Given the description of an element on the screen output the (x, y) to click on. 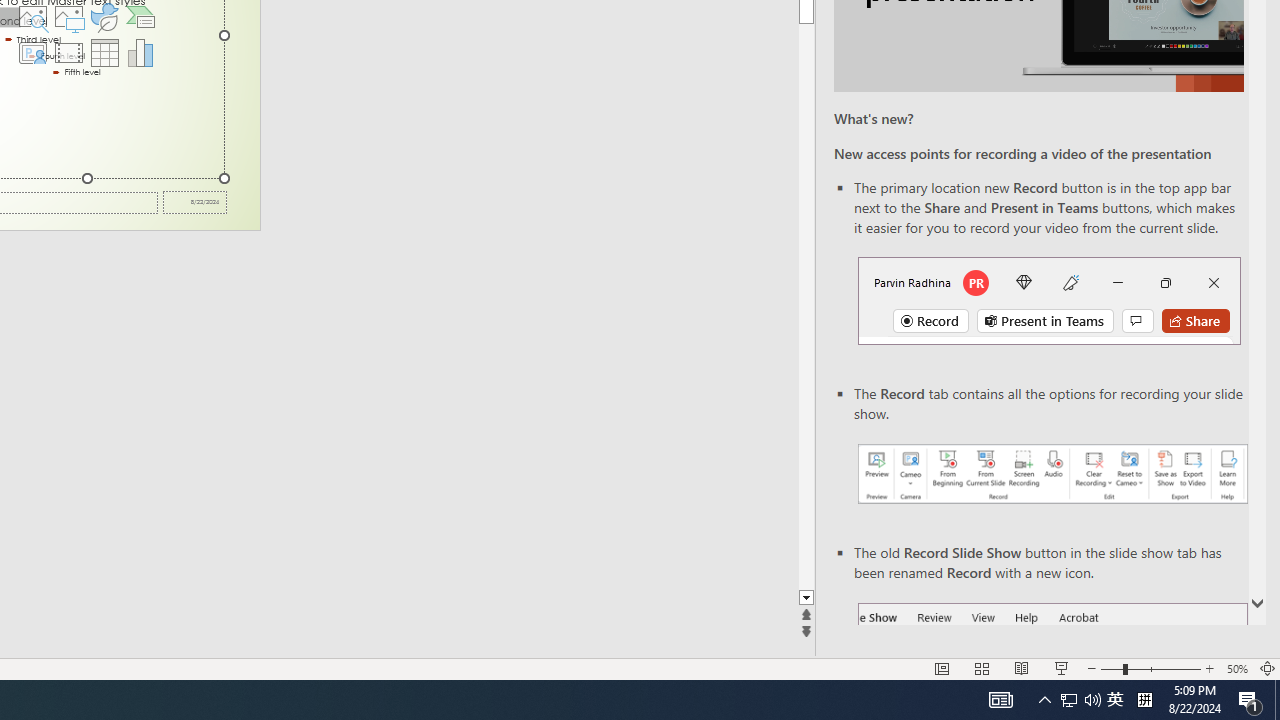
Insert Table (105, 52)
Insert Cameo (32, 52)
Insert Video (68, 52)
Stock Images (32, 16)
Record your presentations screenshot one (1052, 473)
Pictures (68, 16)
Insert a SmartArt Graphic (141, 16)
Zoom to Fit  (1267, 668)
Insert an Icon (105, 16)
Page down (806, 306)
Date (194, 201)
Reading View (1021, 668)
Slide Show (1061, 668)
Normal (941, 668)
